Given the description of an element on the screen output the (x, y) to click on. 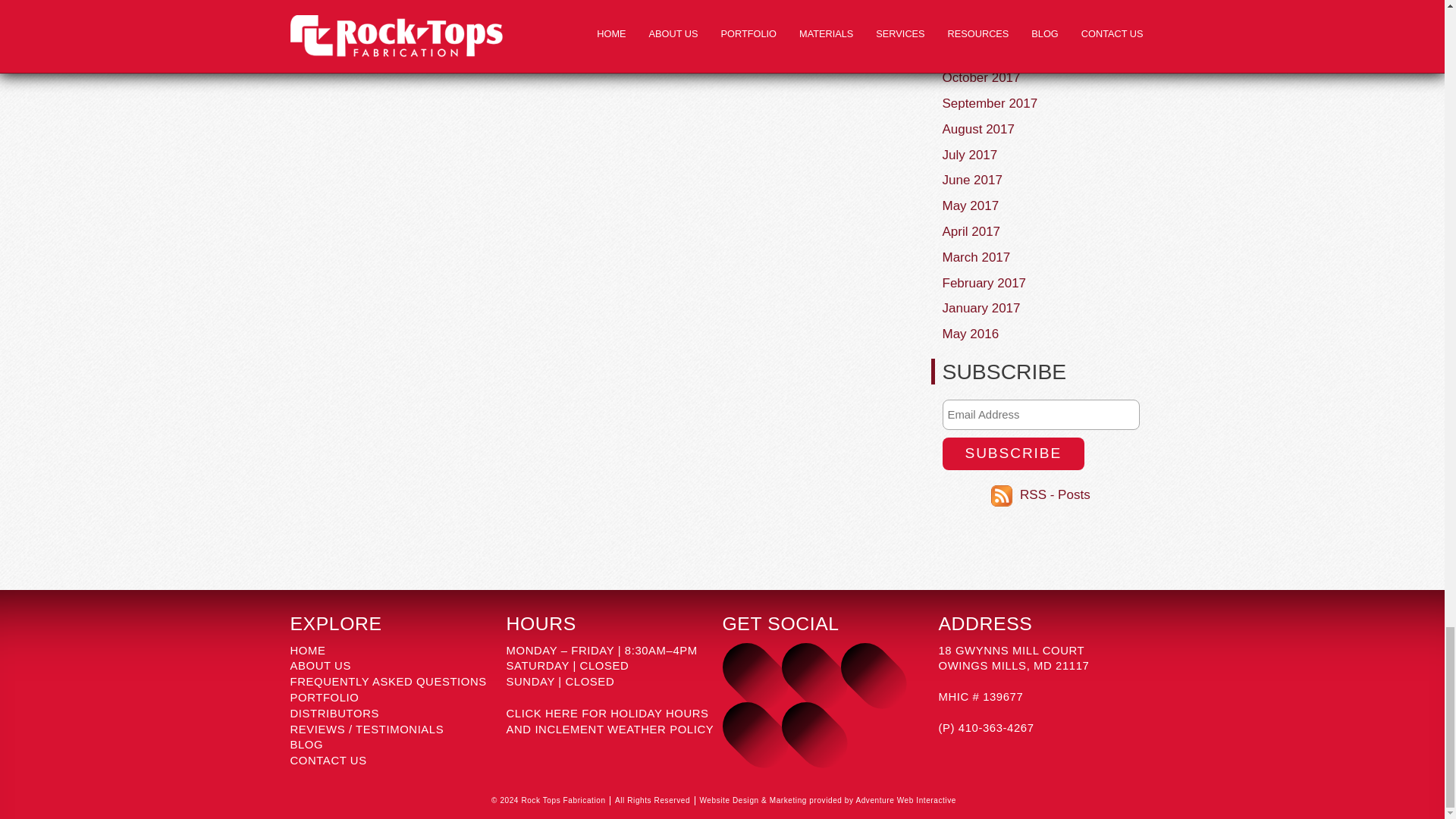
Facebook (804, 666)
Subscribe to Posts (1055, 494)
YouTube (864, 666)
Pinterest (746, 726)
Houzz (804, 726)
Subscribe to Posts (1003, 494)
Twitter (746, 666)
